Given the description of an element on the screen output the (x, y) to click on. 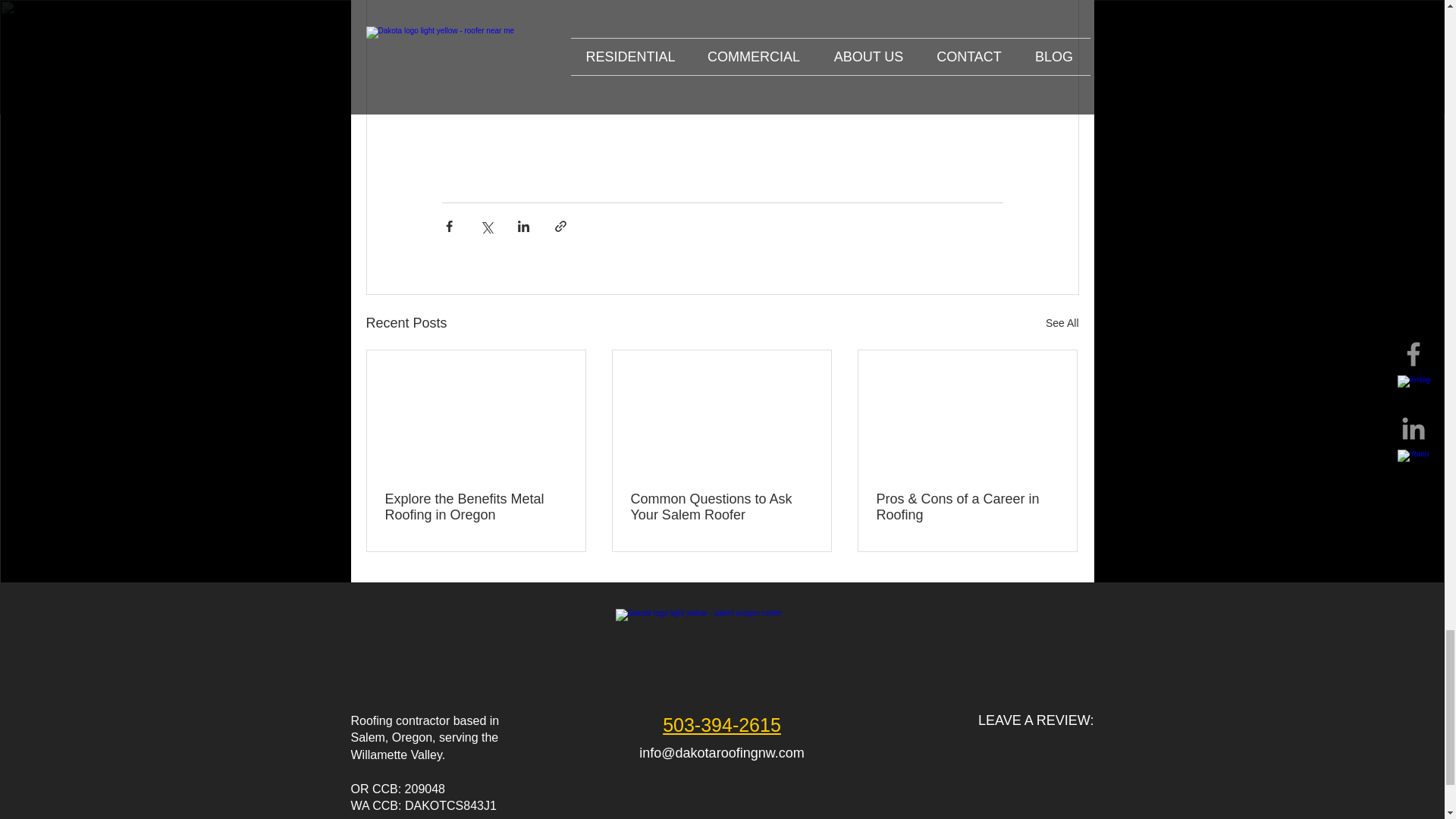
Common Questions to Ask Your Salem Roofer (721, 507)
503-394-2615 (721, 724)
Explore the Benefits Metal Roofing in Oregon (476, 507)
See All (1061, 323)
